Given the description of an element on the screen output the (x, y) to click on. 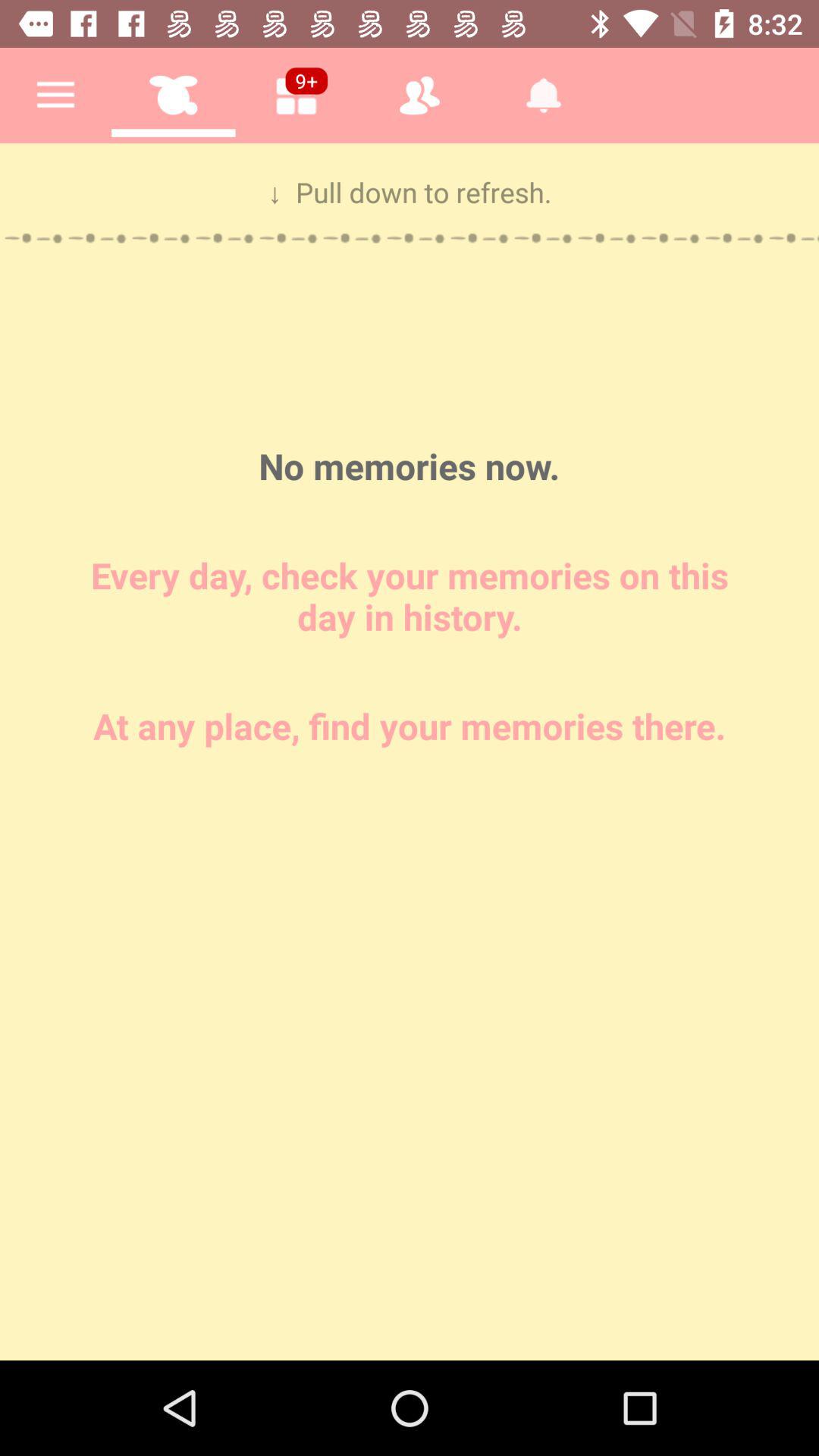
type in memories (409, 751)
